Given the description of an element on the screen output the (x, y) to click on. 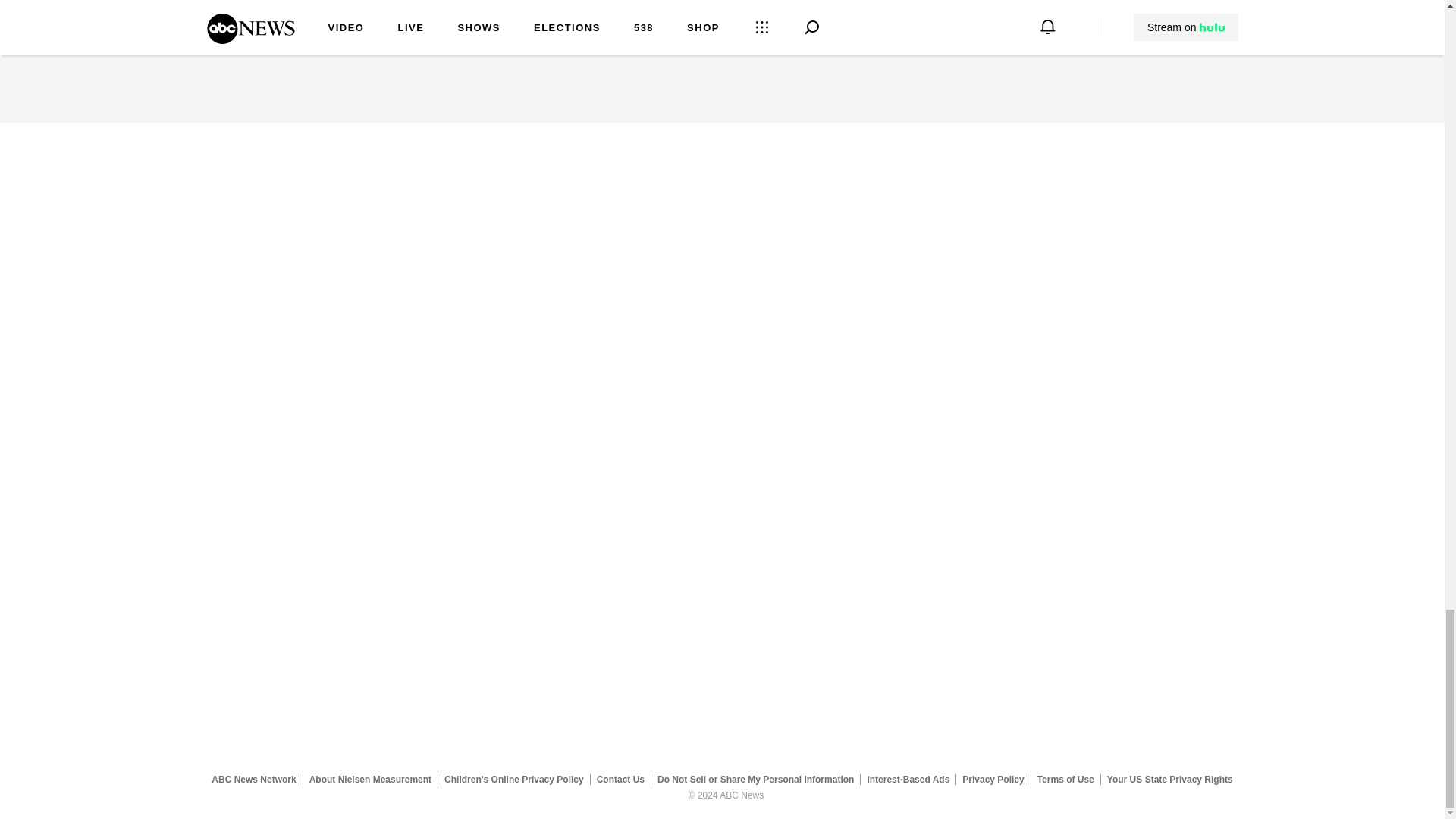
About Nielsen Measurement (370, 778)
Your US State Privacy Rights (1169, 778)
Interest-Based Ads (908, 778)
Contact Us (620, 778)
Privacy Policy (993, 778)
Children's Online Privacy Policy (514, 778)
ABC News Network (253, 778)
Do Not Sell or Share My Personal Information (755, 778)
Terms of Use (1065, 778)
